Given the description of an element on the screen output the (x, y) to click on. 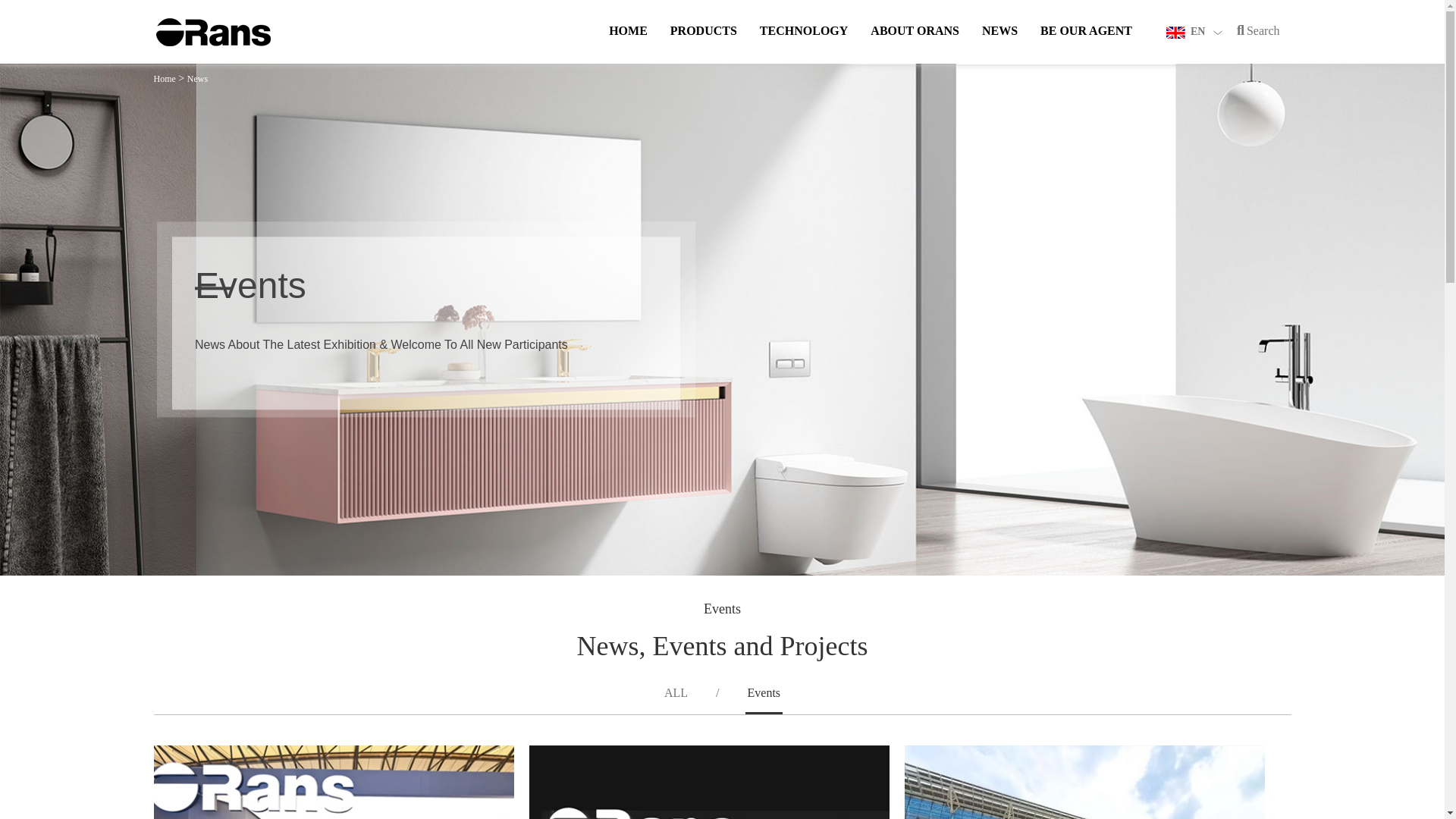
BE OUR AGENT (1086, 43)
Products (702, 43)
EN (1194, 30)
HOME (627, 43)
BE OUR AGENT (1086, 43)
PRODUCTS (702, 43)
ABOUT ORANS (914, 43)
Home (627, 43)
About ORANS (914, 43)
TECHNOLOGY (803, 43)
